Given the description of an element on the screen output the (x, y) to click on. 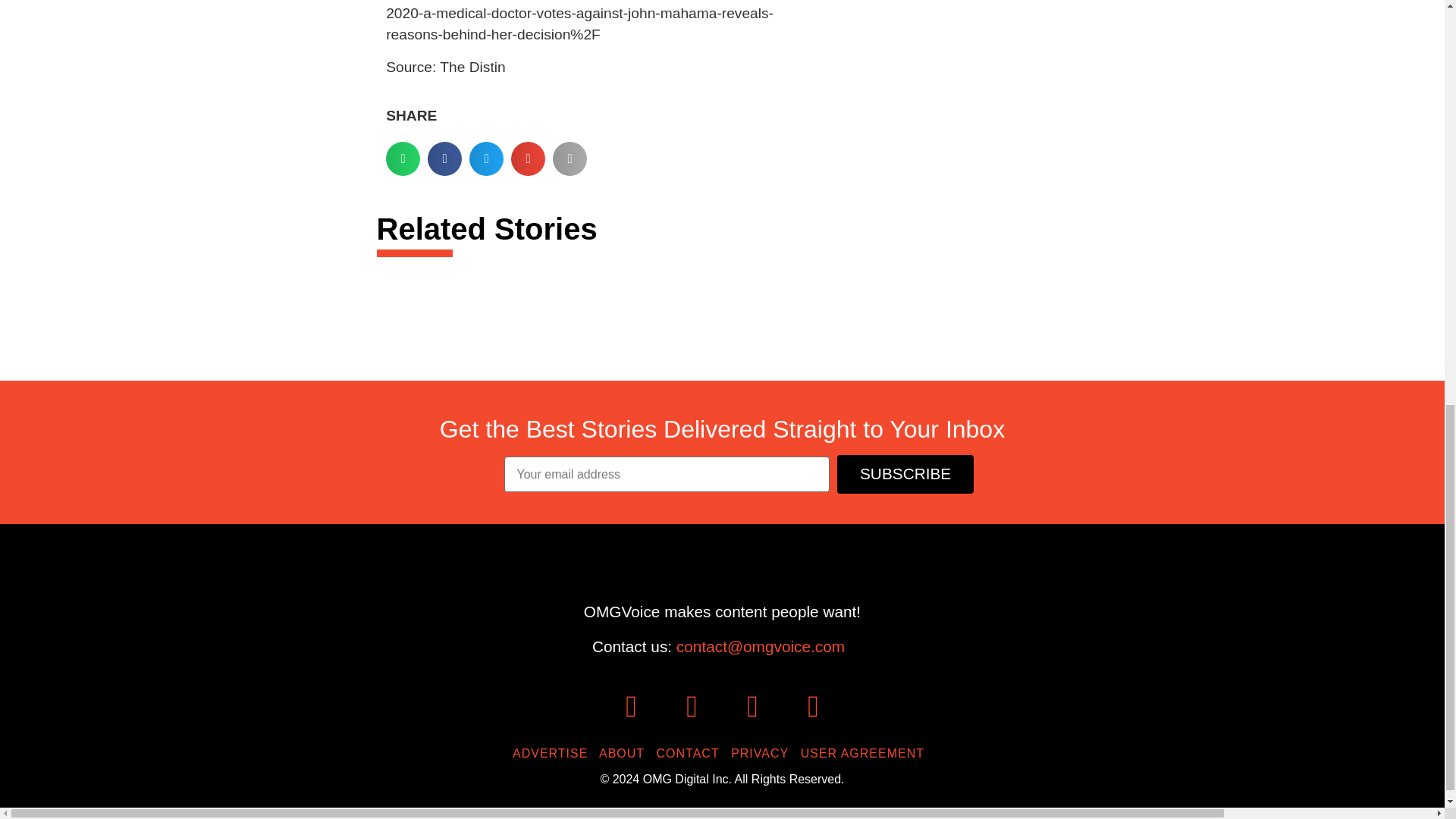
PRIVACY (763, 753)
SUBSCRIBE (905, 474)
CONTACT (691, 753)
USER AGREEMENT (865, 753)
ADVERTISE (553, 753)
ABOUT (625, 753)
